Given the description of an element on the screen output the (x, y) to click on. 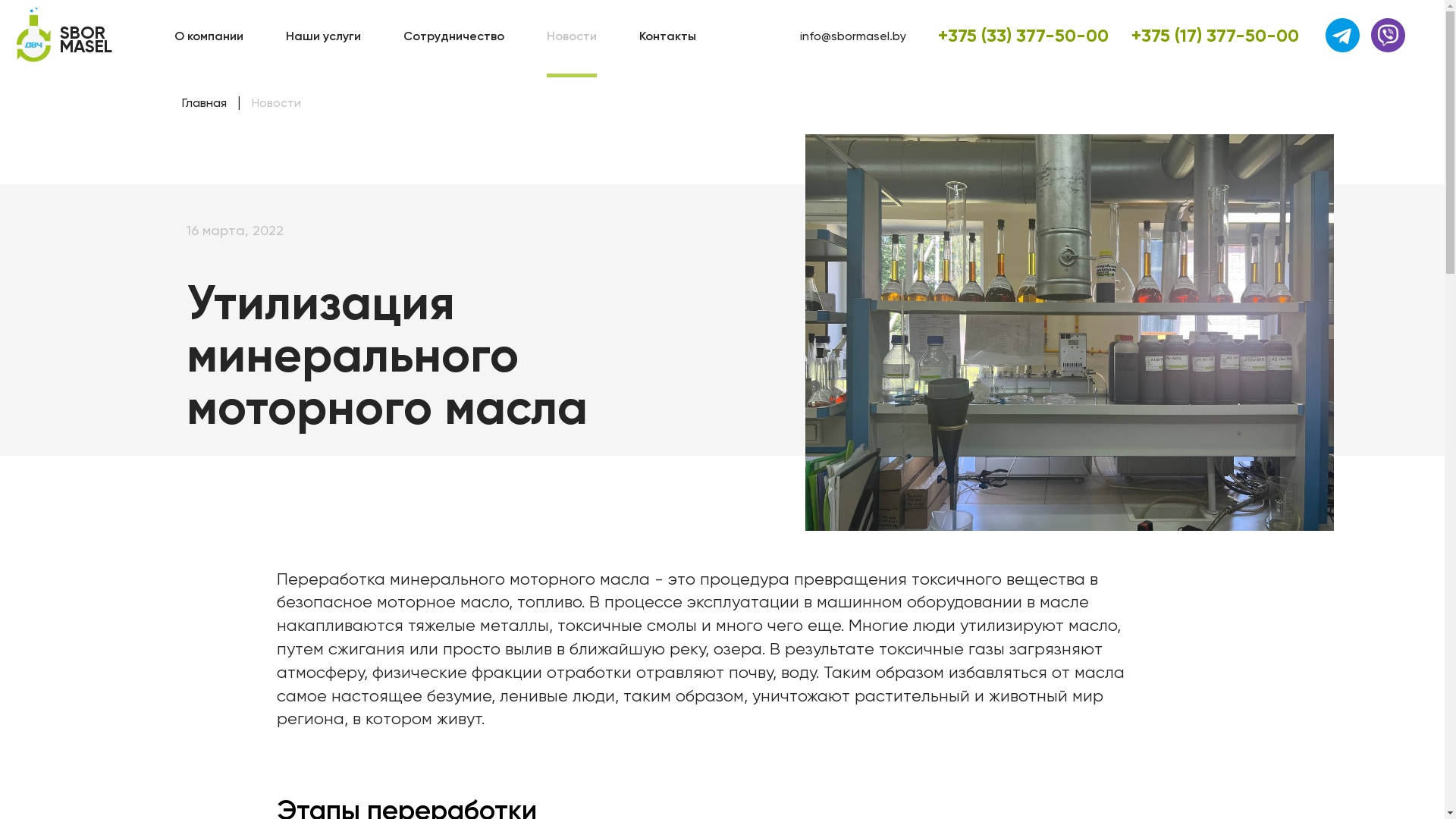
+375 (33) 377-50-00 Element type: text (1016, 35)
+375 (17) 377-50-00 Element type: text (1206, 35)
info@sbormasel.by Element type: text (859, 36)
